Given the description of an element on the screen output the (x, y) to click on. 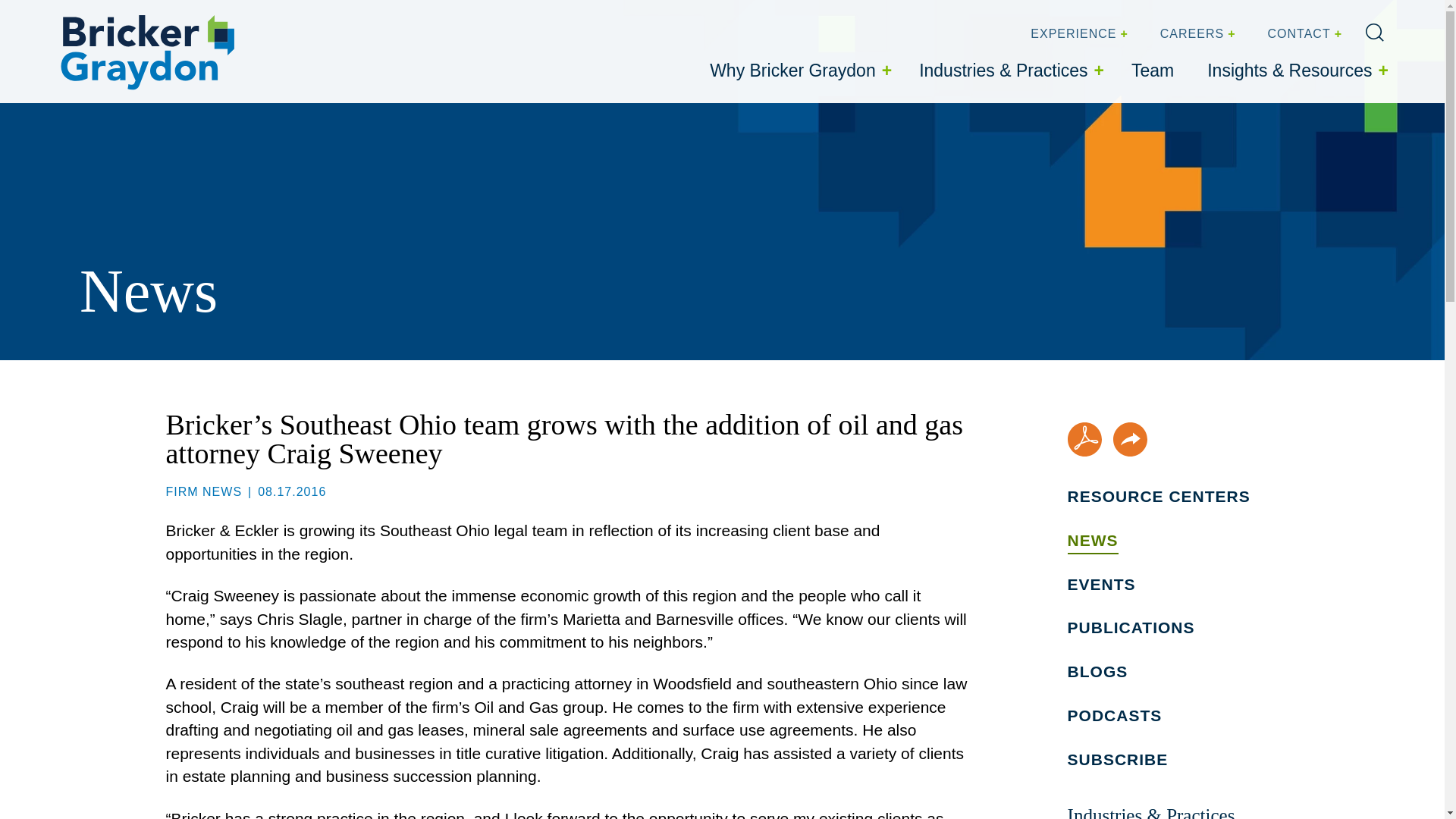
Main Menu (680, 16)
Print PDF (1084, 439)
Share (1130, 439)
EXPERIENCE (1077, 34)
CONTACT (1303, 34)
Menu (680, 16)
Why Bricker Graydon (797, 70)
Main Content (674, 16)
Search (1374, 32)
Team (1153, 70)
